Given the description of an element on the screen output the (x, y) to click on. 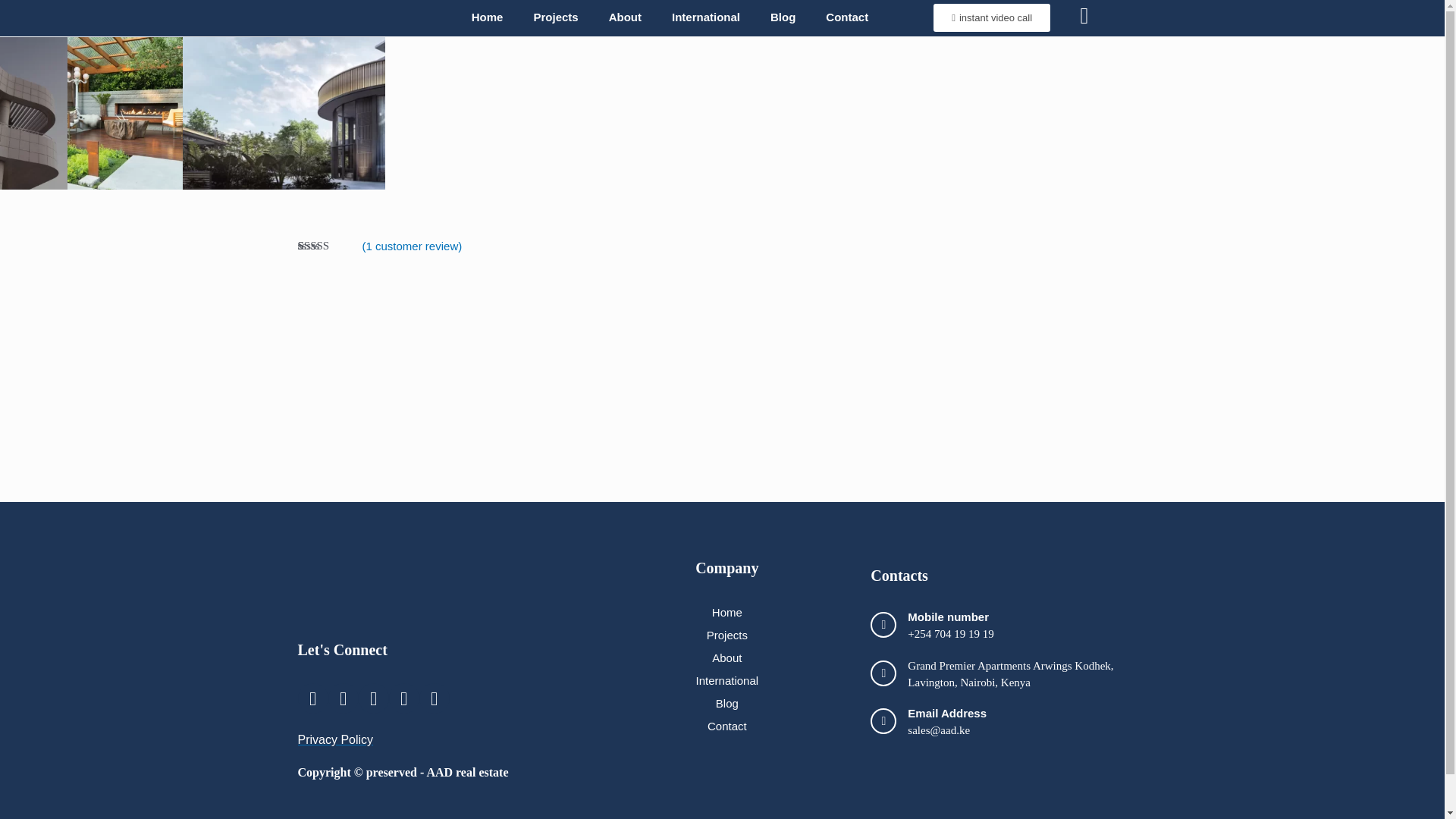
Projects (555, 17)
instant video call (991, 17)
Contact (846, 17)
Projects (727, 634)
About (625, 17)
Blog (727, 702)
Home (487, 17)
Home (727, 611)
International (727, 680)
International (705, 17)
About (727, 657)
Contact (727, 725)
Blog (782, 17)
Privacy Policy (334, 739)
